Given the description of an element on the screen output the (x, y) to click on. 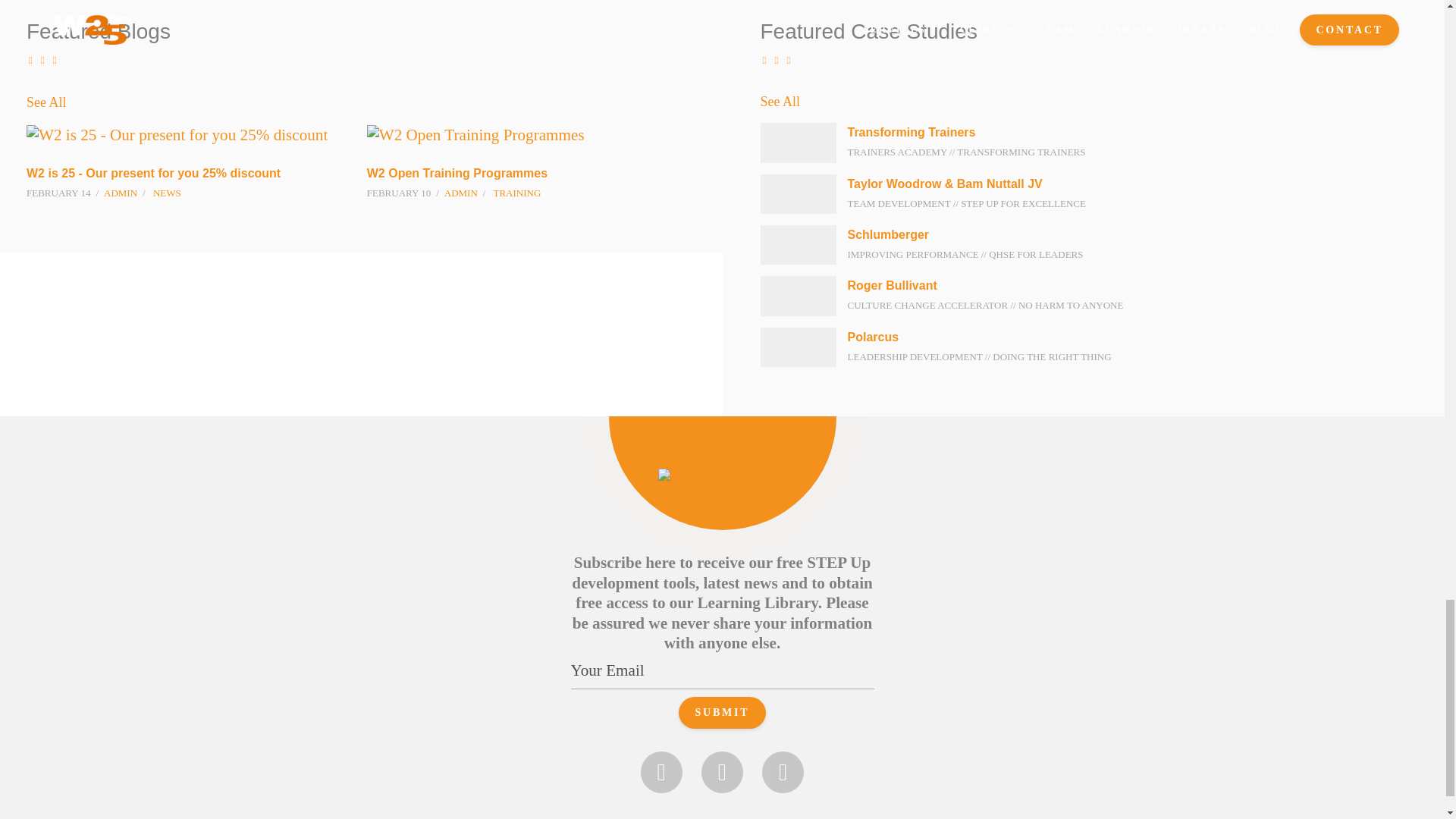
ADMIN (119, 193)
W2 Open Training Programmes (456, 173)
ADMIN (460, 193)
NEWS (166, 193)
See All (45, 102)
See All (1089, 101)
TRAINING (516, 193)
SUBMIT (721, 712)
